Given the description of an element on the screen output the (x, y) to click on. 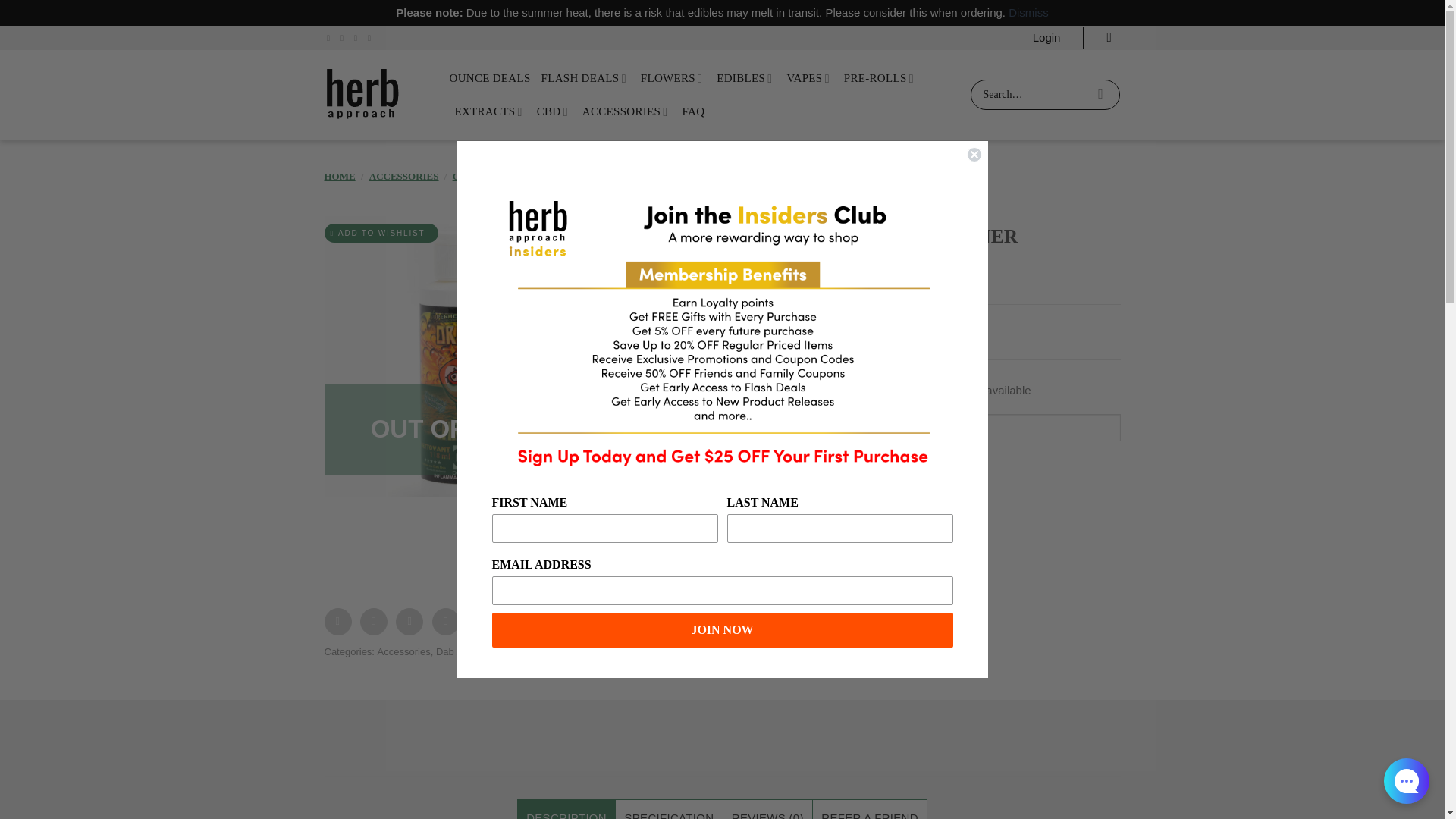
EDIBLES (746, 78)
Login (1046, 37)
FLASH DEALS (585, 78)
Dismiss (1028, 11)
OrangeChronic-Cleaner-4oz (464, 356)
OUNCE DEALS (488, 78)
FLOWERS (673, 78)
